Given the description of an element on the screen output the (x, y) to click on. 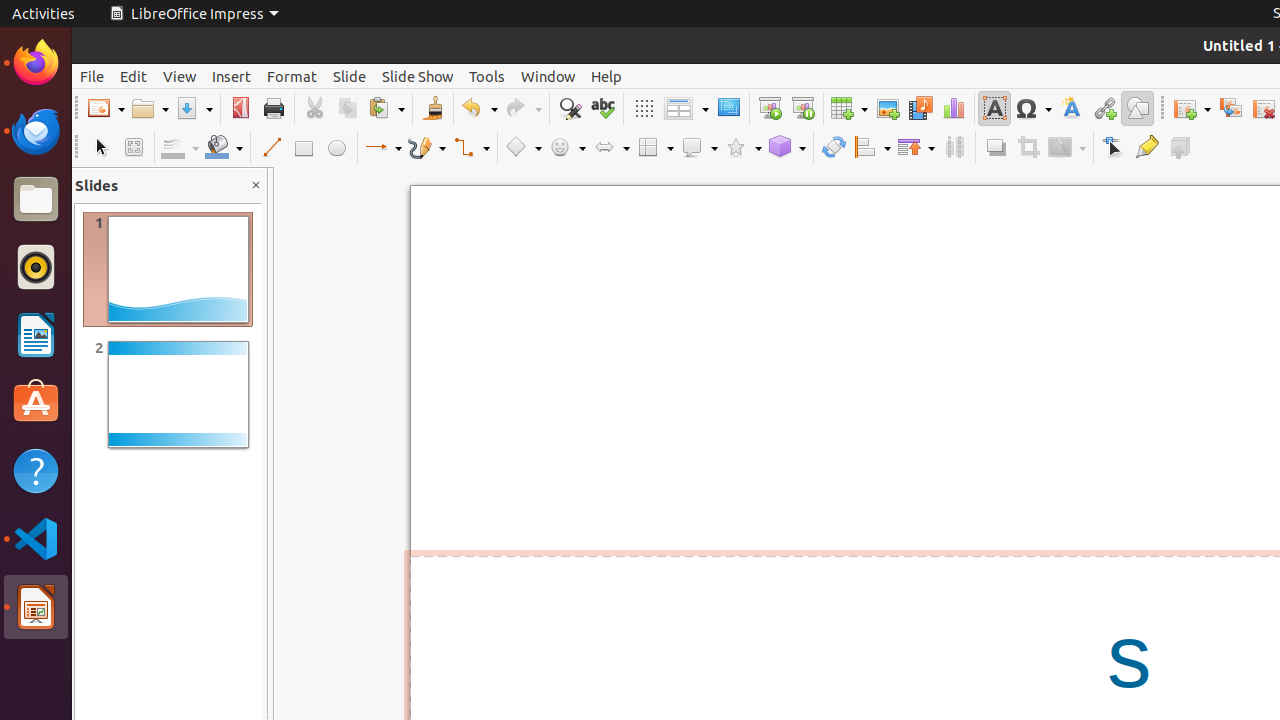
View Element type: menu (179, 76)
Line Element type: push-button (270, 147)
Edit Element type: menu (133, 76)
Clone Element type: push-button (432, 108)
Star Shapes Element type: push-button (743, 147)
